Given the description of an element on the screen output the (x, y) to click on. 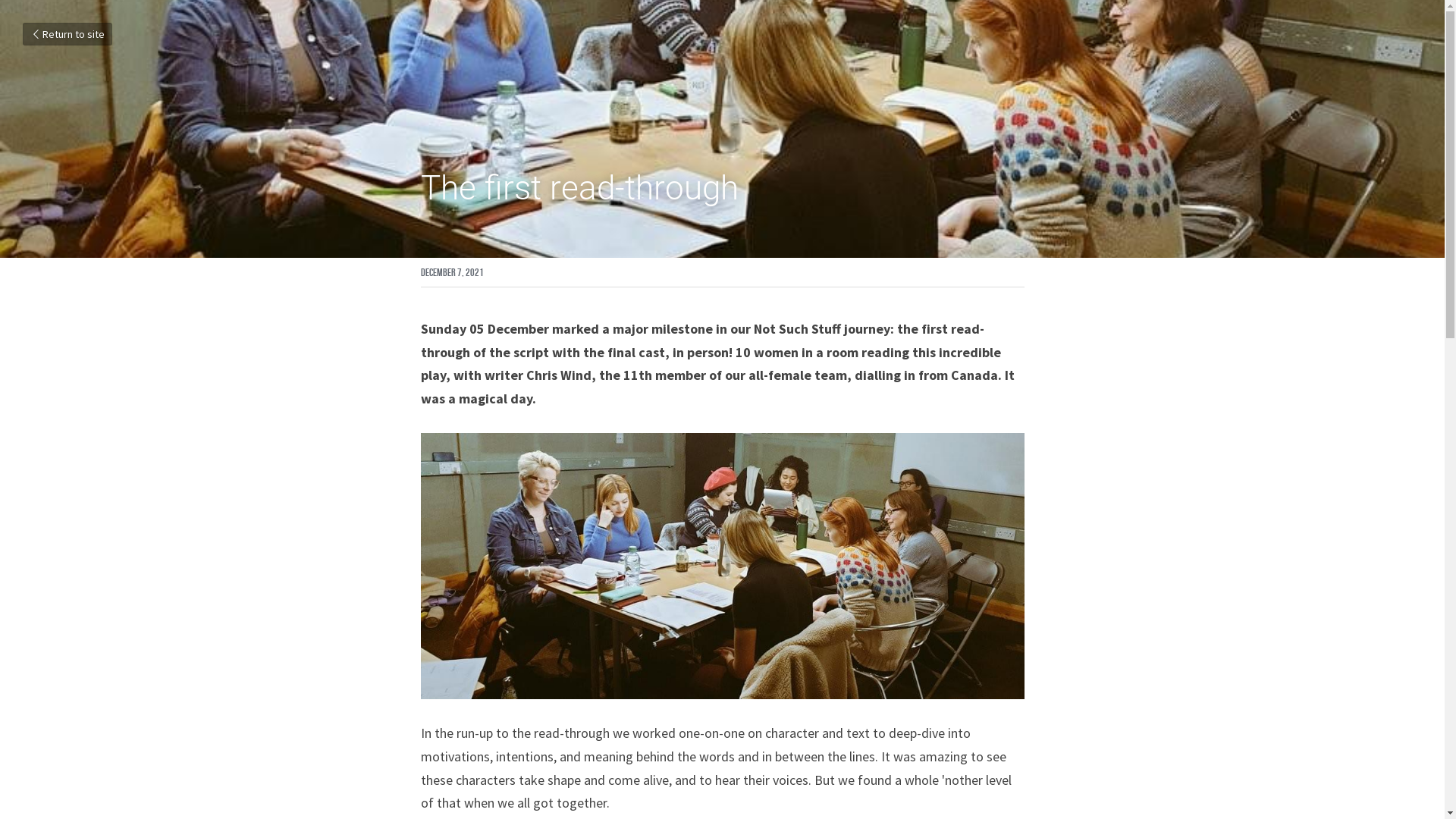
Return to site Element type: text (67, 33)
